Given the description of an element on the screen output the (x, y) to click on. 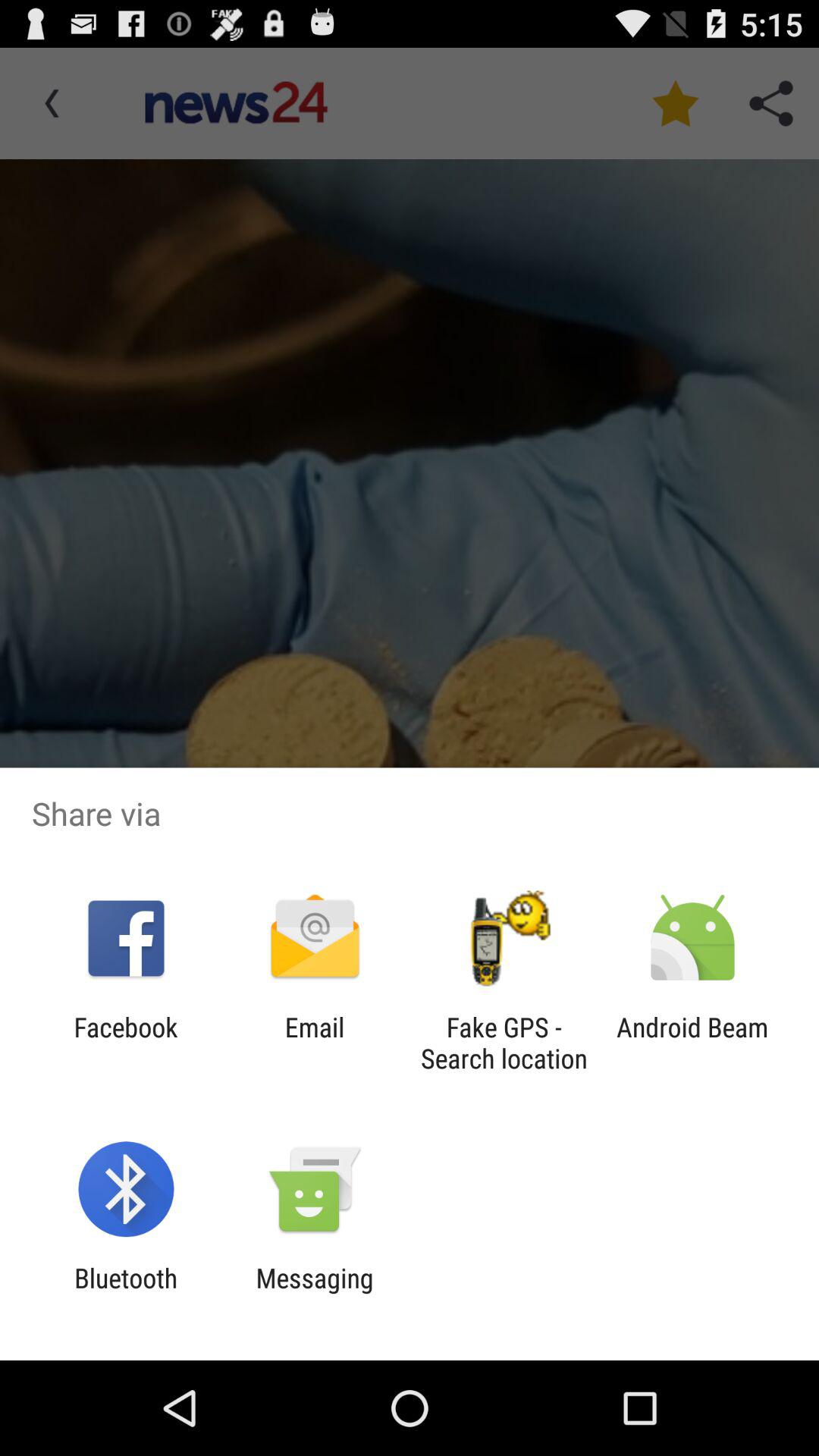
open item to the right of bluetooth (314, 1293)
